Given the description of an element on the screen output the (x, y) to click on. 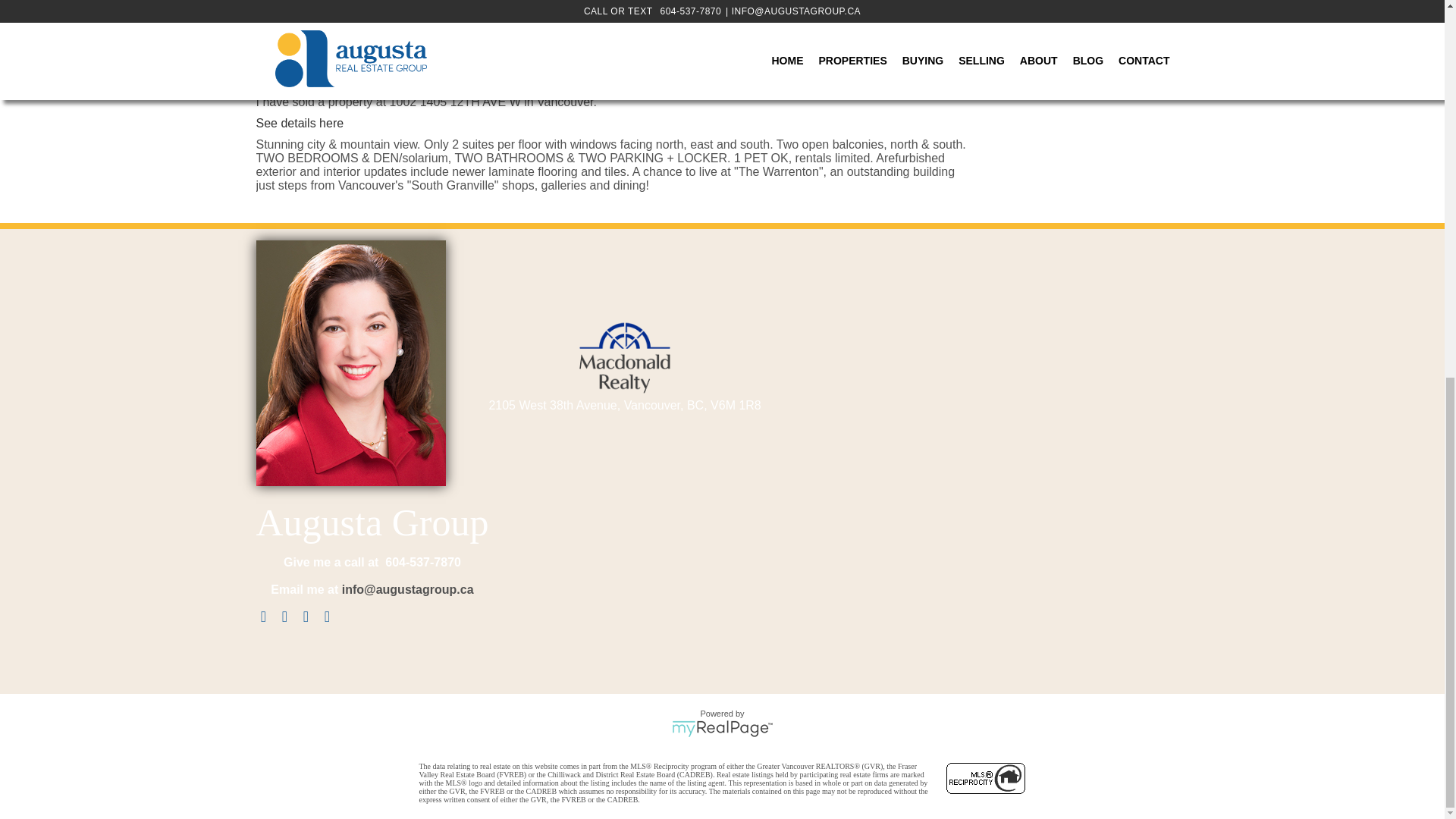
myRealPage.com (722, 728)
See details here (299, 123)
